Given the description of an element on the screen output the (x, y) to click on. 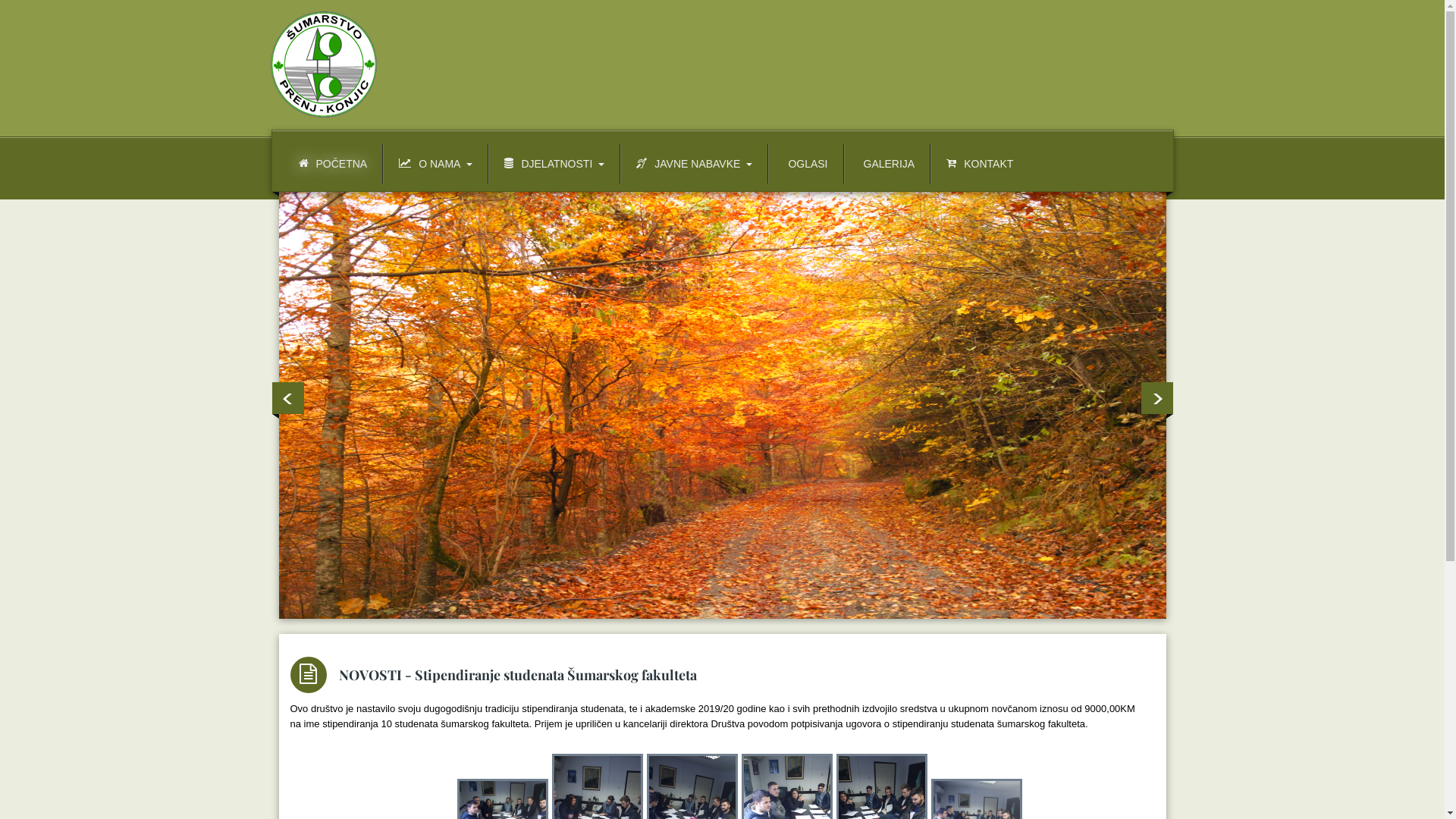
DJELATNOSTI Element type: text (554, 163)
O NAMA Element type: text (435, 163)
GALERIJA Element type: text (887, 163)
JAVNE NABAVKE Element type: text (694, 163)
KONTAKT Element type: text (979, 163)
OGLASI Element type: text (805, 163)
